Given the description of an element on the screen output the (x, y) to click on. 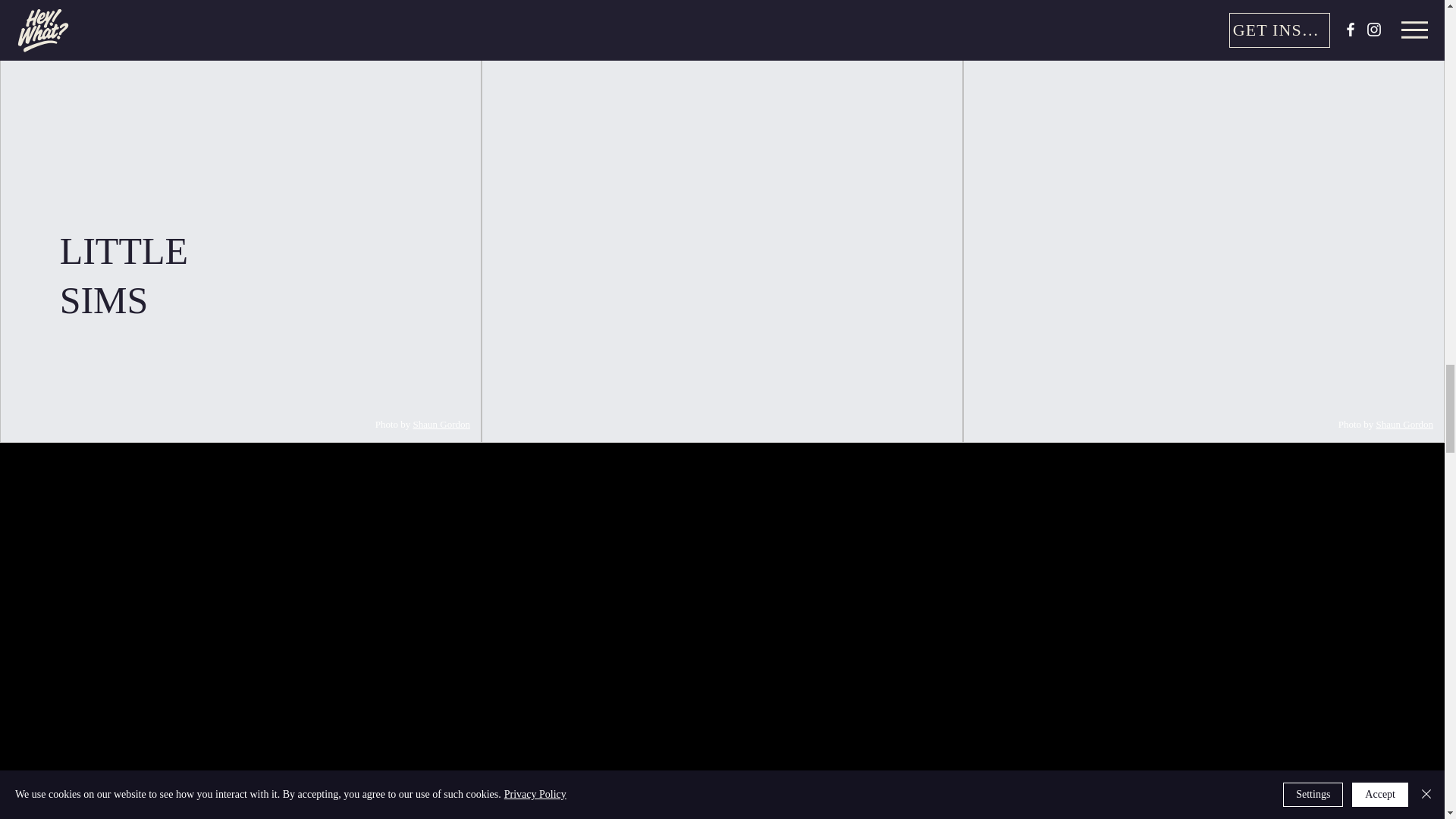
Shaun Gordon (441, 423)
Shaun Gordon (1403, 423)
